Given the description of an element on the screen output the (x, y) to click on. 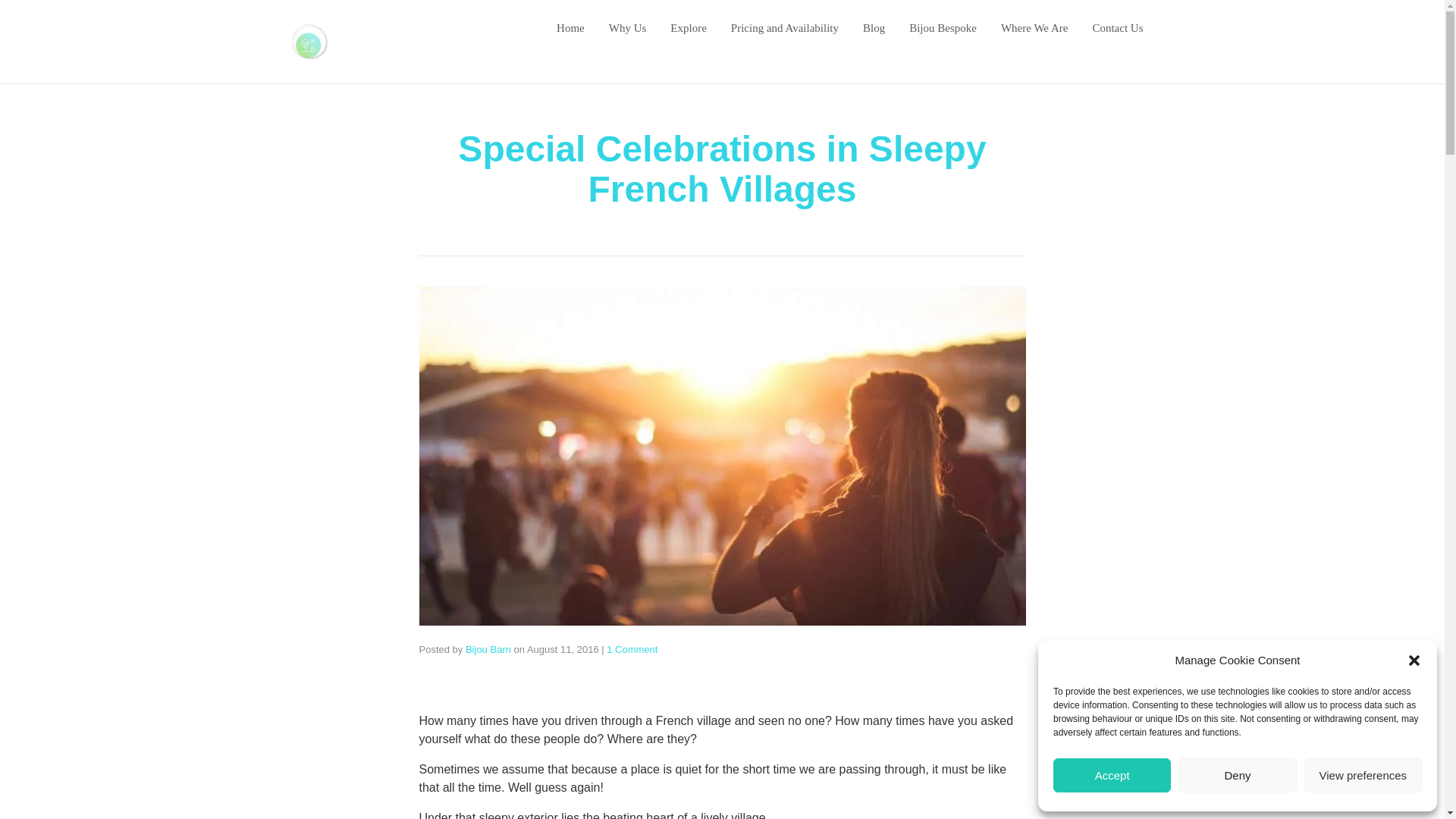
Bijou Barn (488, 649)
Contact Us (1117, 27)
Explore (687, 27)
Posts by Bijou Barn (488, 649)
Pricing and Availability (784, 27)
1 Comment (632, 649)
Where We Are (1034, 27)
Deny (1236, 775)
View preferences (1363, 775)
Why Us (627, 27)
